Given the description of an element on the screen output the (x, y) to click on. 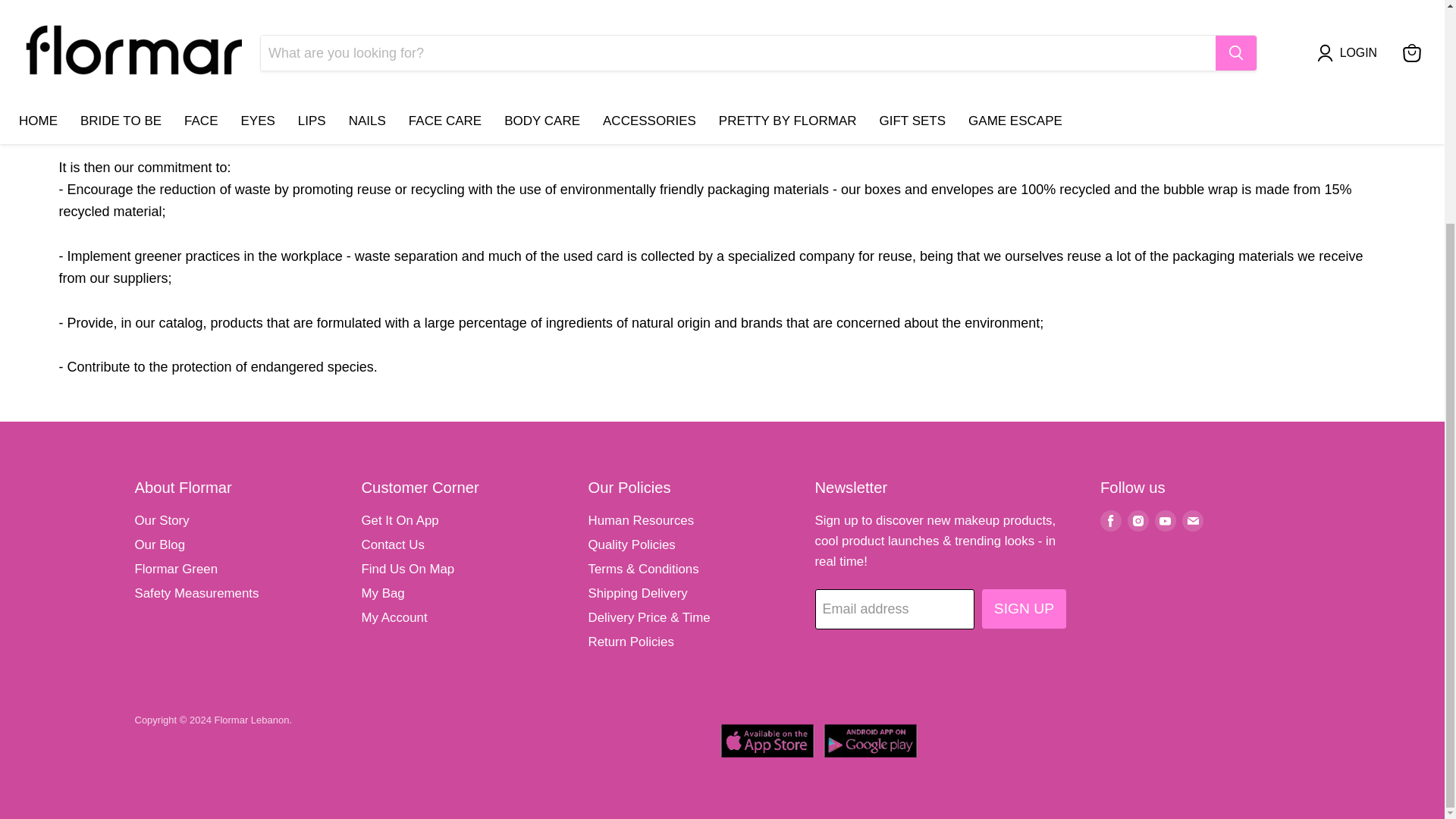
Email (1193, 520)
Flormar Green (176, 568)
Facebook (1110, 520)
Instagram (1137, 520)
Our Blog (160, 544)
Youtube (1165, 520)
Our Story (162, 520)
Safety Measurements (197, 593)
